Given the description of an element on the screen output the (x, y) to click on. 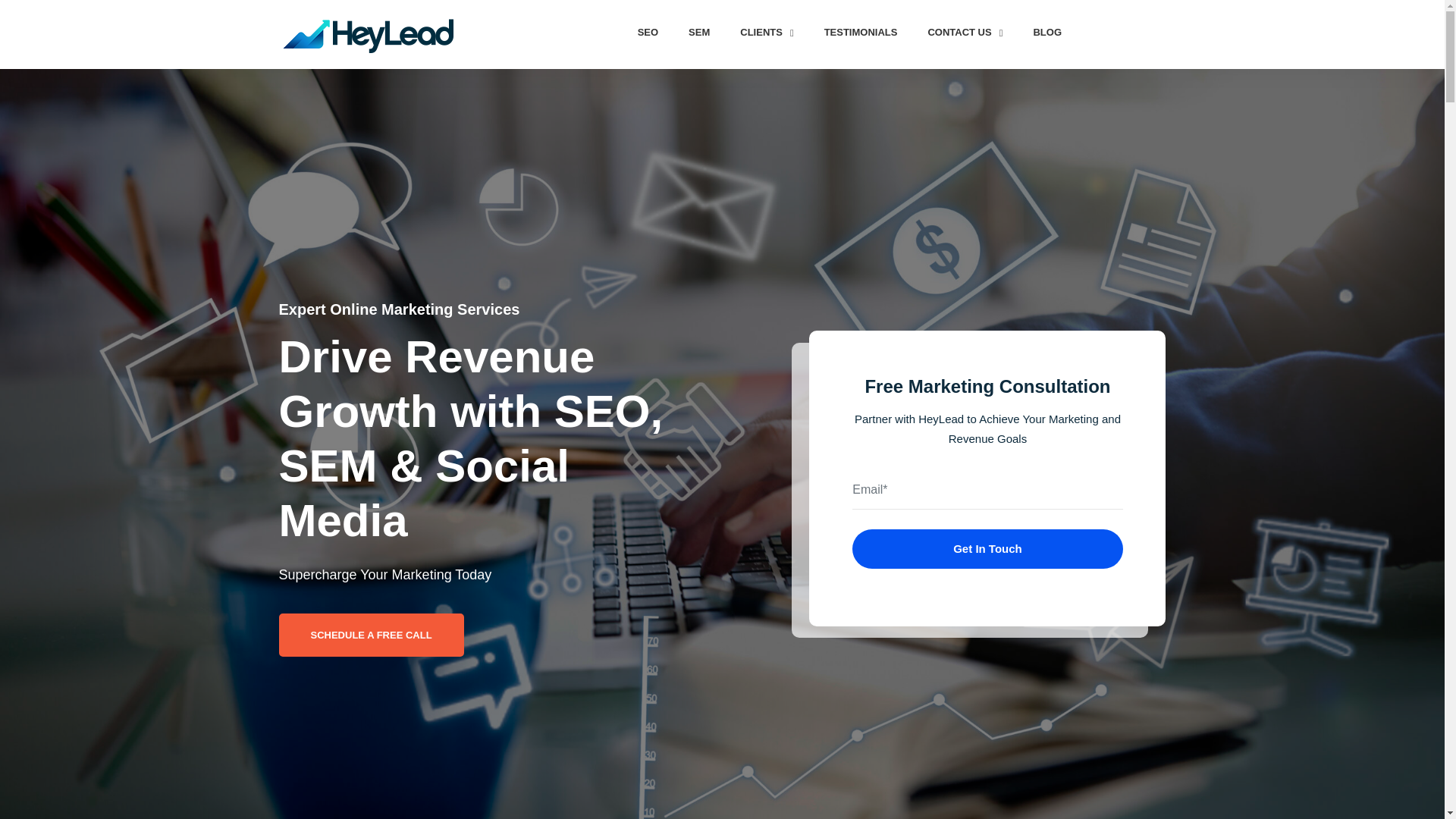
CLIENTS (766, 32)
SEO (647, 32)
SEM (698, 32)
Get In Touch (986, 548)
BLOG (1047, 32)
SCHEDULE A FREE CALL (371, 634)
CONTACT US (964, 32)
TESTIMONIALS (860, 32)
